Given the description of an element on the screen output the (x, y) to click on. 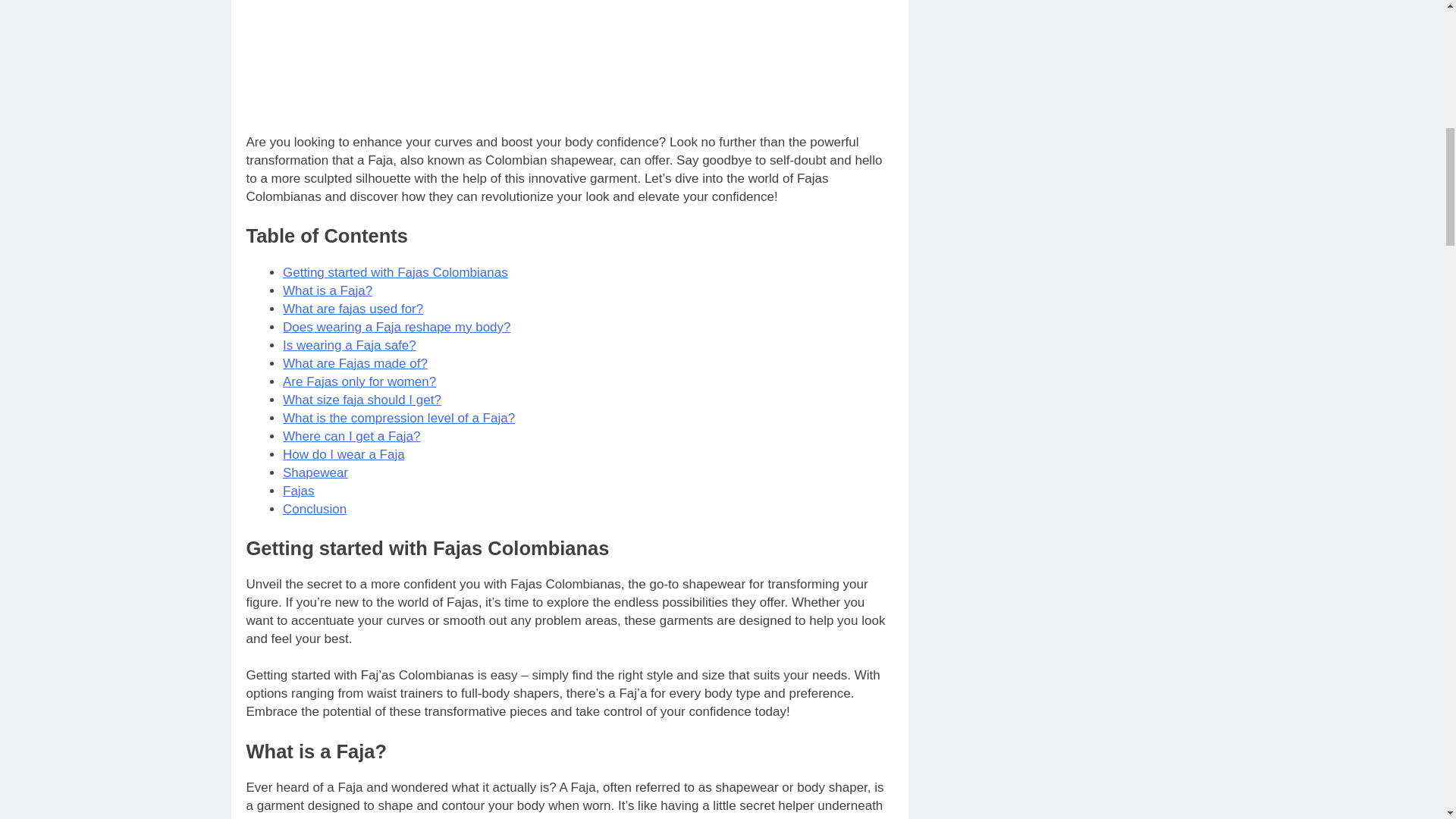
Is wearing a Faja safe? (349, 345)
Does wearing a Faja reshape my body? (396, 327)
What is the compression level of a Faja? (398, 418)
What are fajas used for? (352, 309)
Getting started with Fajas Colombianas (395, 272)
Shapewear (314, 472)
Fajas (298, 490)
What are Fajas made of? (355, 363)
Where can I get a Faja? (351, 436)
What is a Faja? (327, 290)
